Given the description of an element on the screen output the (x, y) to click on. 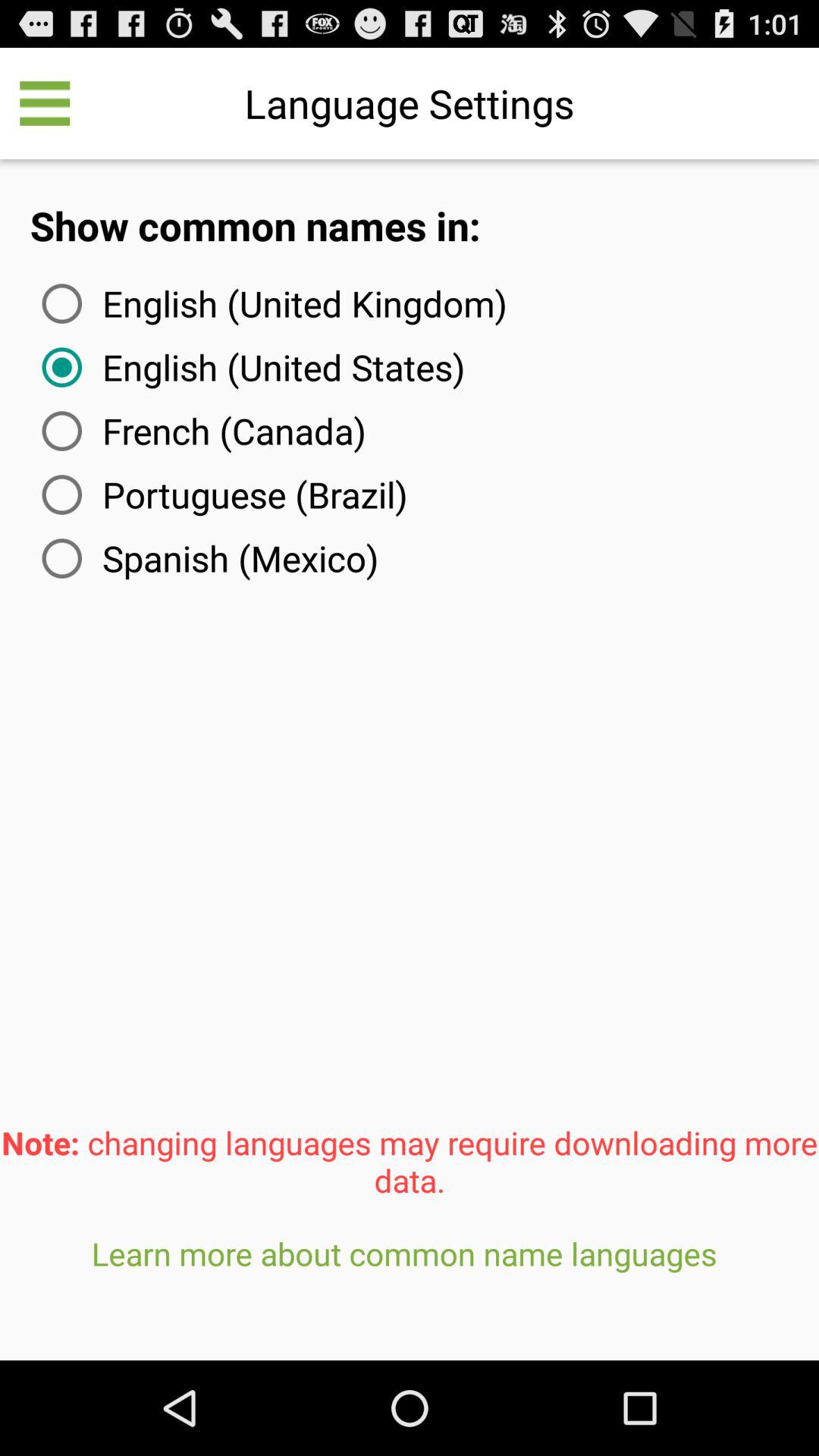
press item above portuguese (brazil) icon (200, 430)
